Given the description of an element on the screen output the (x, y) to click on. 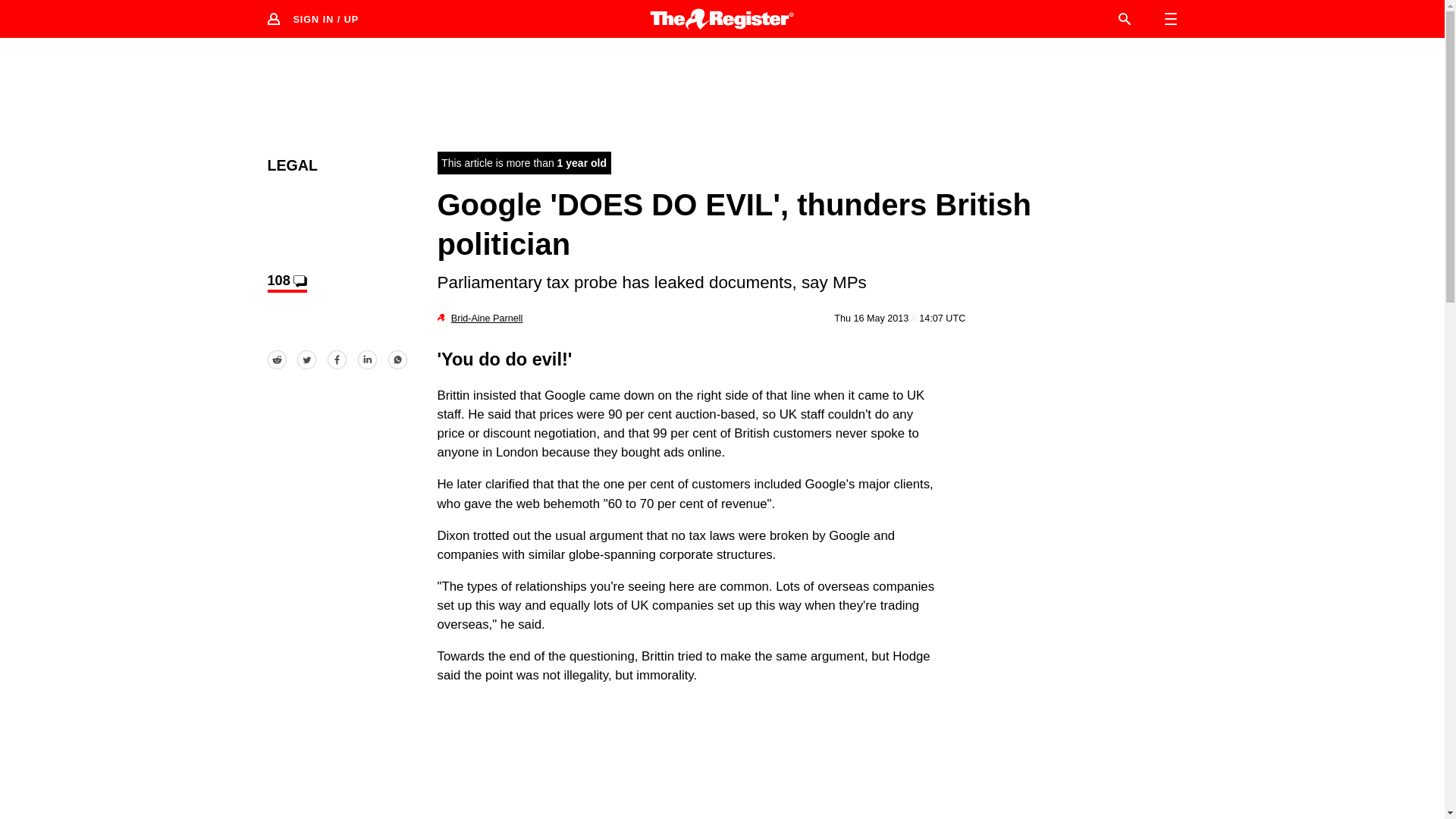
Read more by this author (486, 318)
View comments on this article (285, 282)
